Given the description of an element on the screen output the (x, y) to click on. 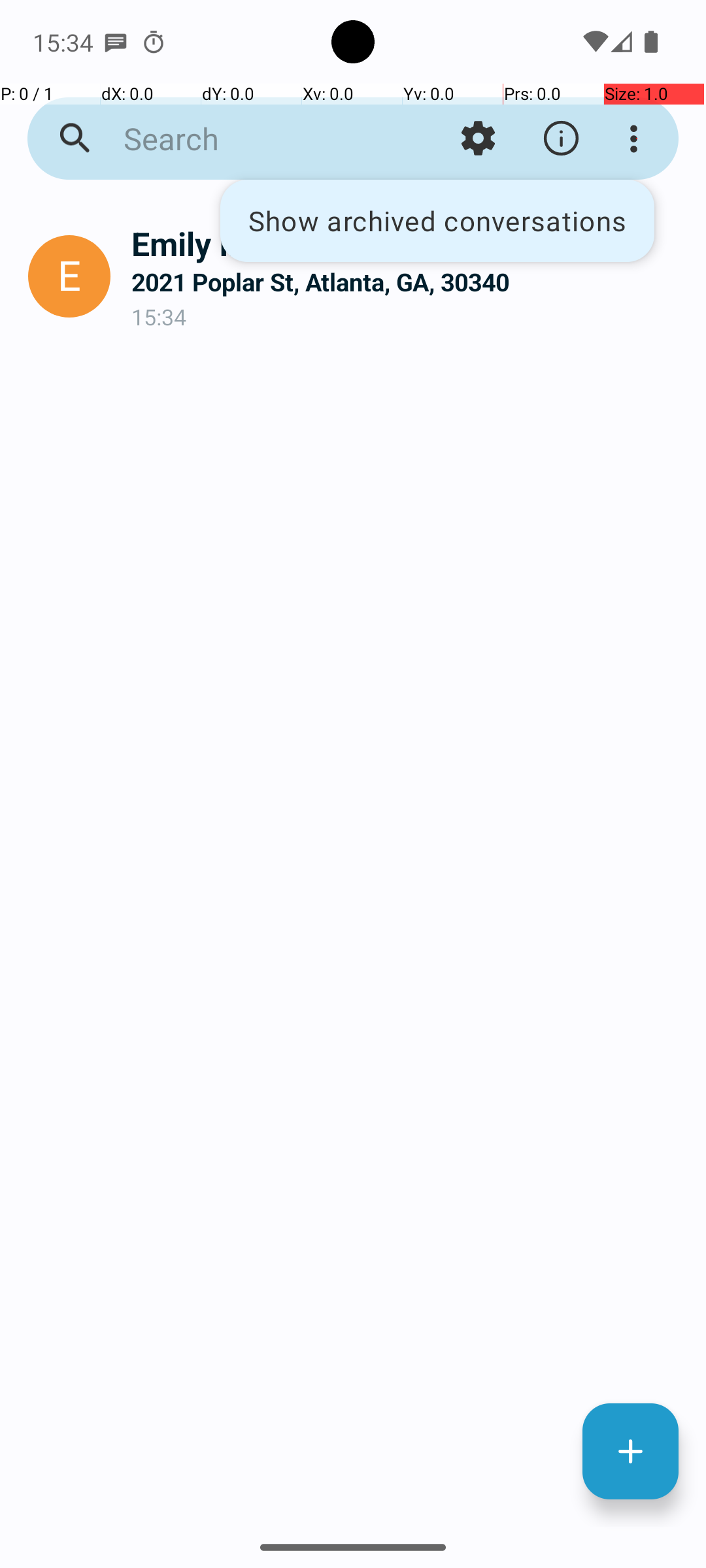
SMS Messenger notification: Emily Ibrahim Element type: android.widget.ImageView (115, 41)
